Given the description of an element on the screen output the (x, y) to click on. 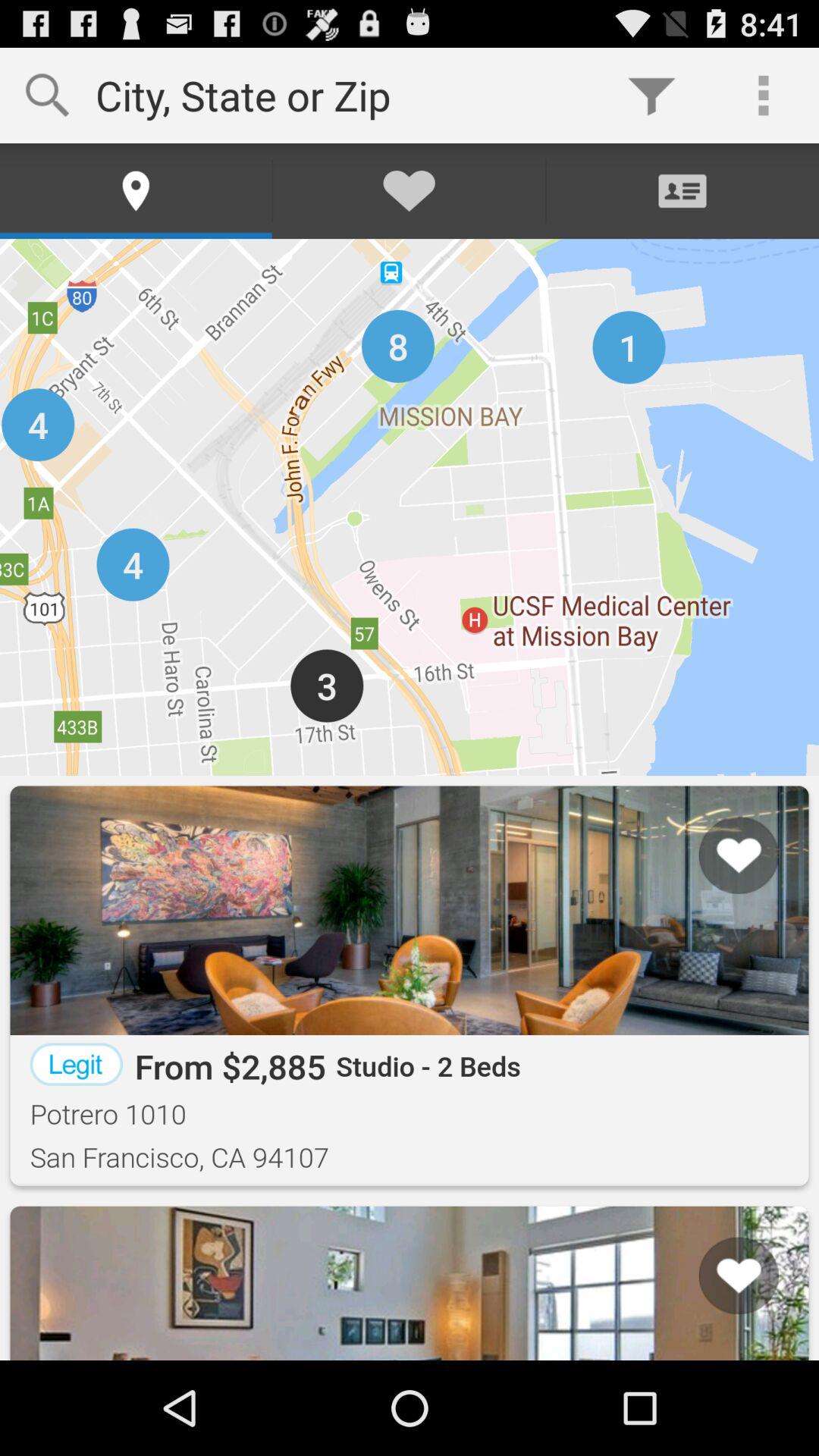
choose the item to the left of from $2,885 app (76, 1064)
